Given the description of an element on the screen output the (x, y) to click on. 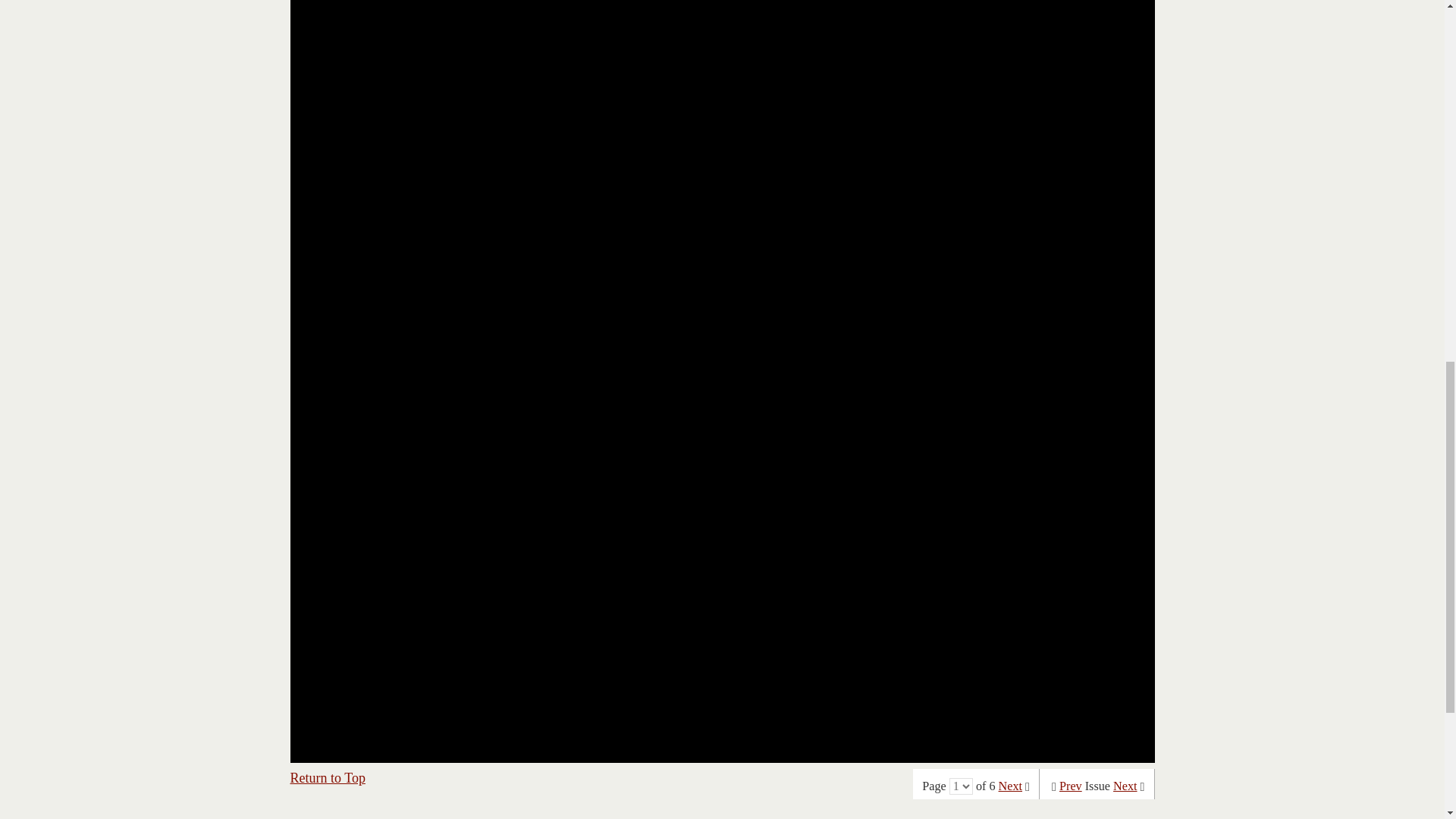
Return to Top (327, 777)
Next (1010, 786)
Next (1125, 786)
Prev (1070, 786)
